Given the description of an element on the screen output the (x, y) to click on. 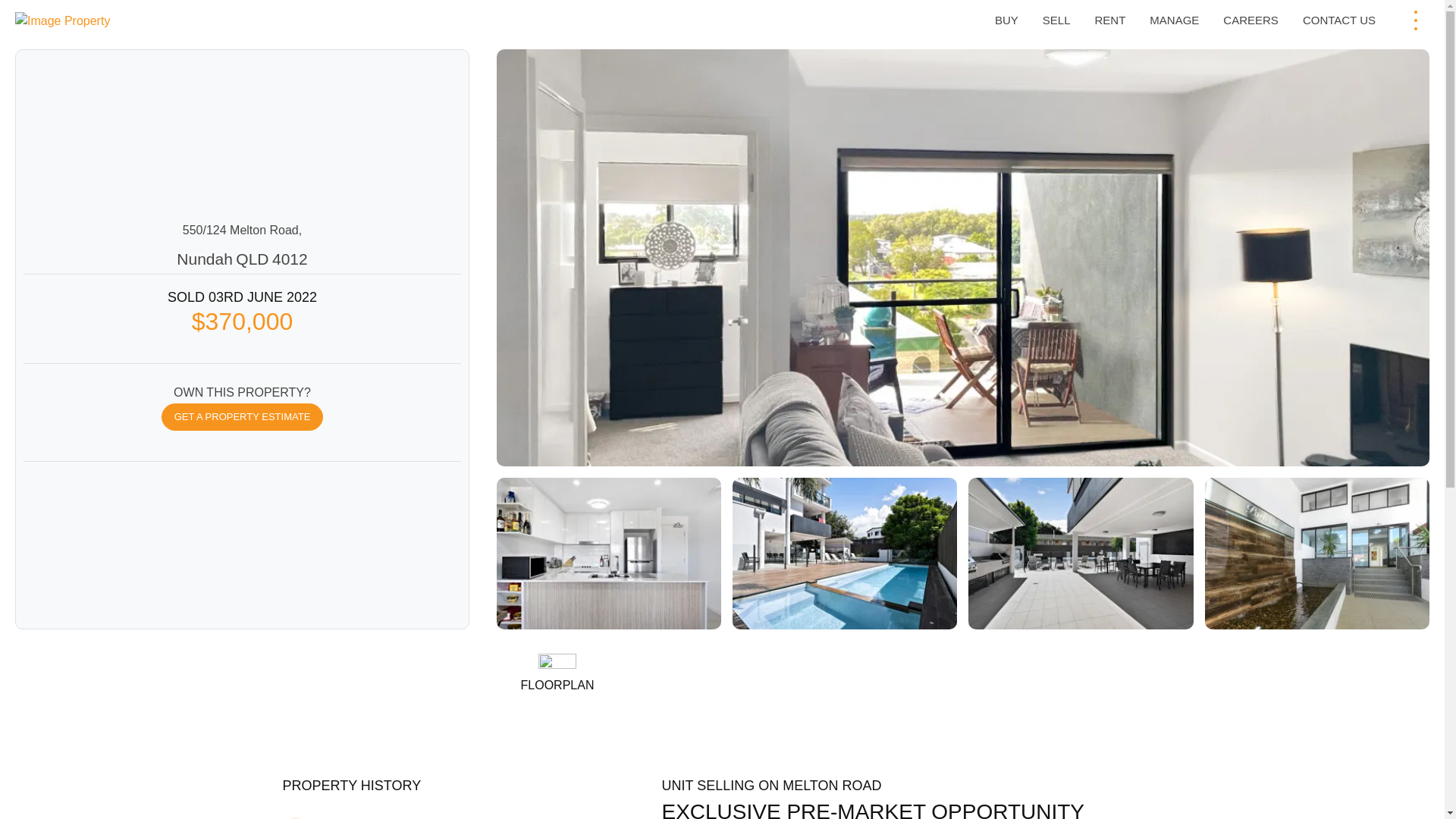
SELL (1056, 20)
MANAGE (1173, 20)
Buy (1006, 20)
BUY (1006, 20)
GET A PROPERTY ESTIMATE (242, 416)
CONTACT US (1339, 20)
CAREERS (1250, 20)
Contact Us (1339, 20)
RENT (1109, 20)
Rent (1109, 20)
Careers (1250, 20)
Sell (1056, 20)
Manage (1173, 20)
